Given the description of an element on the screen output the (x, y) to click on. 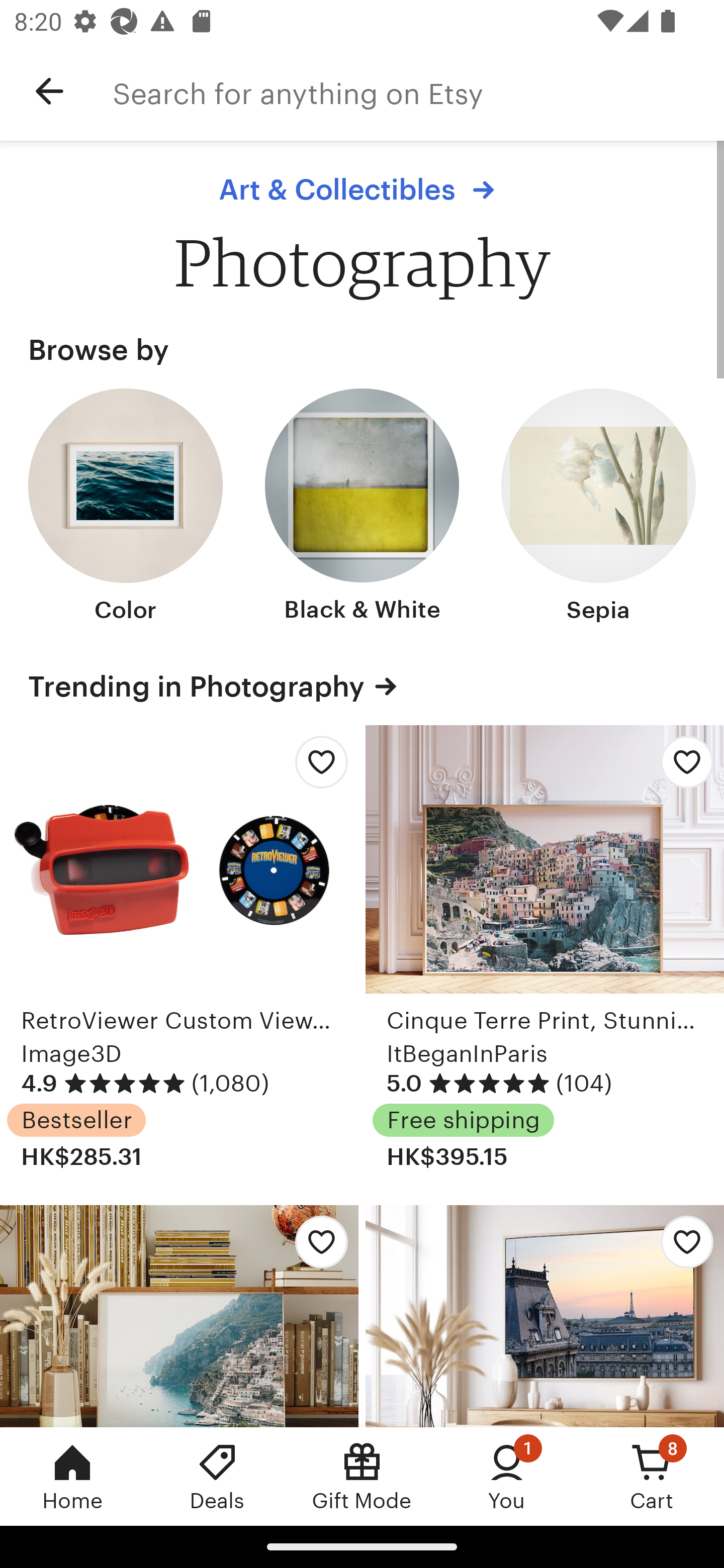
Navigate up (49, 91)
Search for anything on Etsy (418, 91)
Art & Collectibles (361, 189)
Color (125, 507)
Black & White (361, 507)
Sepia (598, 507)
Trending in Photography  (361, 685)
Deals (216, 1475)
Gift Mode (361, 1475)
You, 1 new notification You (506, 1475)
Cart, 8 new notifications Cart (651, 1475)
